Given the description of an element on the screen output the (x, y) to click on. 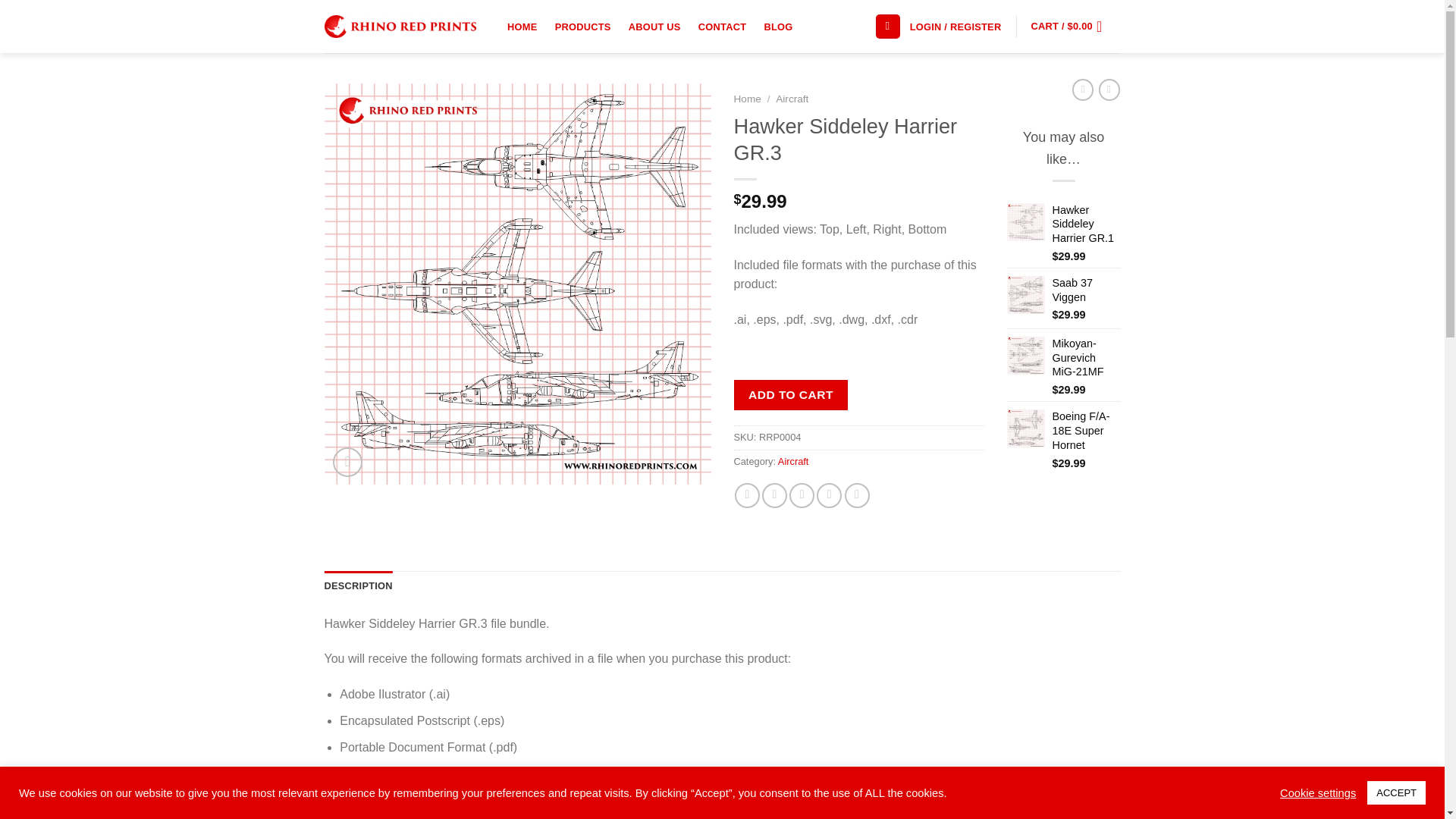
BLOG (778, 27)
Share on Twitter (774, 495)
CONTACT (721, 27)
ADD TO CART (790, 394)
Email to a Friend (801, 495)
Cart (1071, 25)
Share on LinkedIn (856, 495)
HOME (523, 27)
Zoom (347, 461)
Share on Facebook (747, 495)
Rhino Red Prints - Rhino Red Prints Vectors (400, 26)
PRODUCTS (583, 27)
Aircraft (792, 98)
Pin on Pinterest (828, 495)
